Given the description of an element on the screen output the (x, y) to click on. 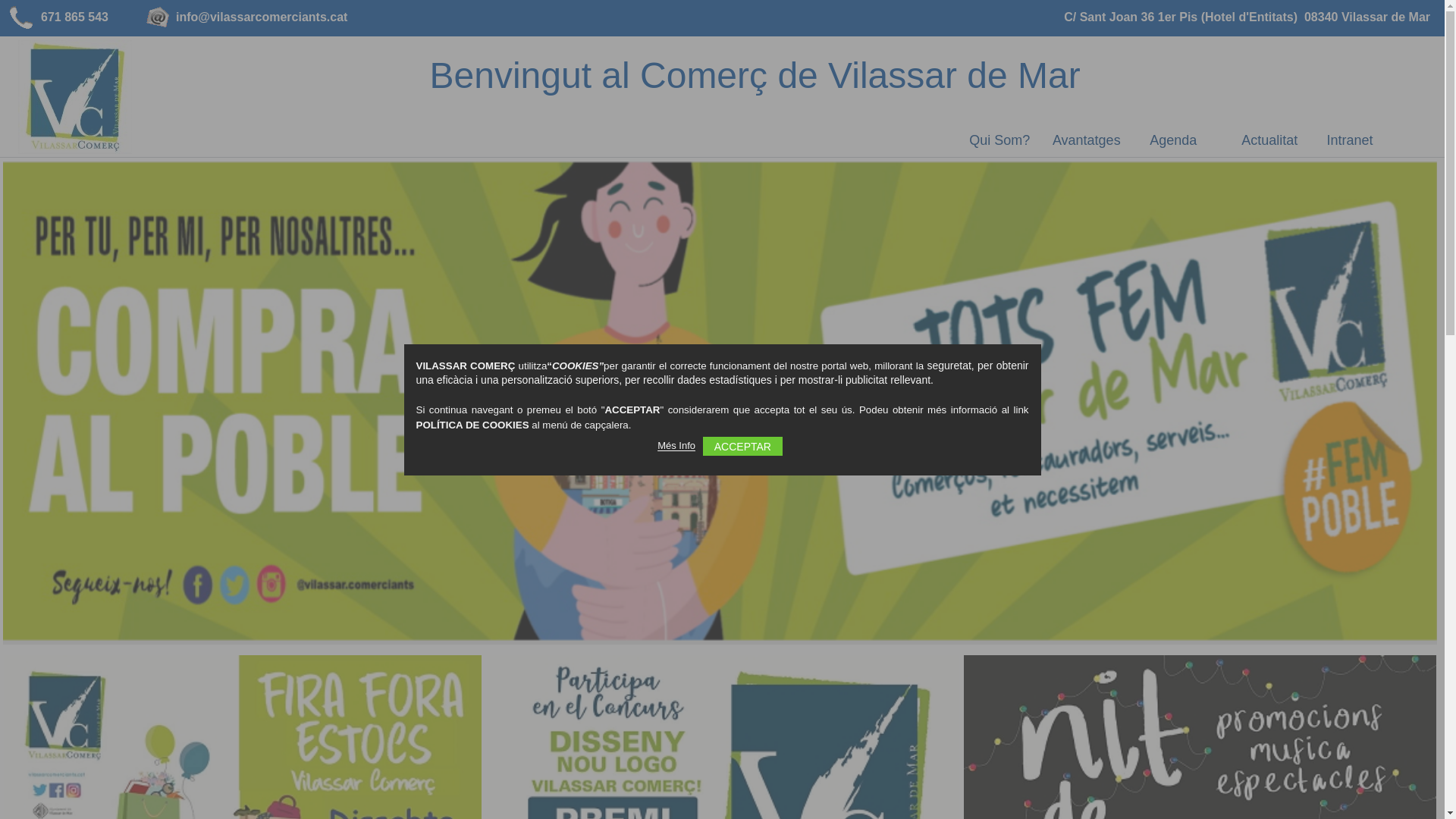
Avantatges Element type: text (1086, 139)
Intranet Element type: text (1349, 139)
Agenda Element type: text (1173, 139)
ACCEPTAR Element type: text (742, 445)
Qui Som? Element type: text (999, 139)
Qui Som?
Avantatges
Agenda
Actualitat
Intranet Element type: text (1166, 139)
Actualitat Element type: text (1269, 139)
